Given the description of an element on the screen output the (x, y) to click on. 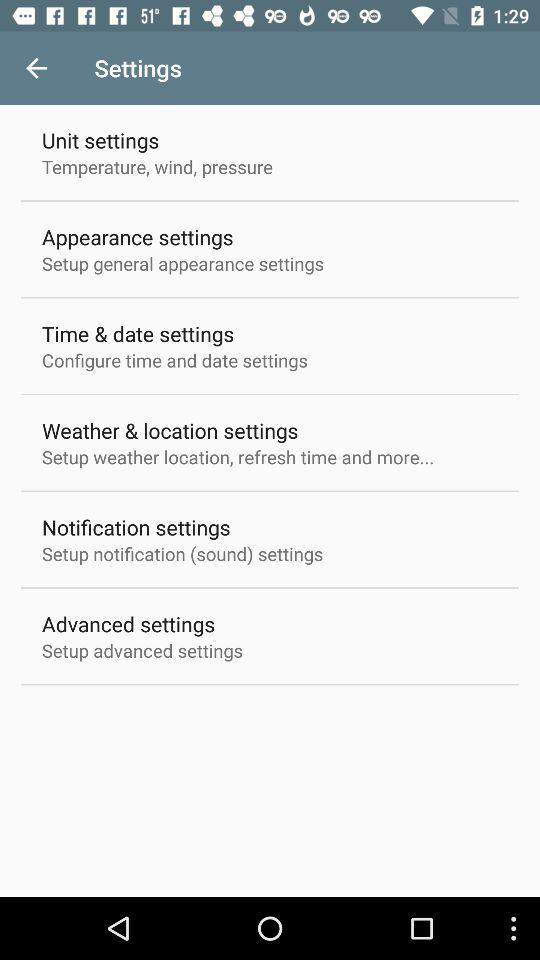
turn off item above temperature, wind, pressure (100, 139)
